Given the description of an element on the screen output the (x, y) to click on. 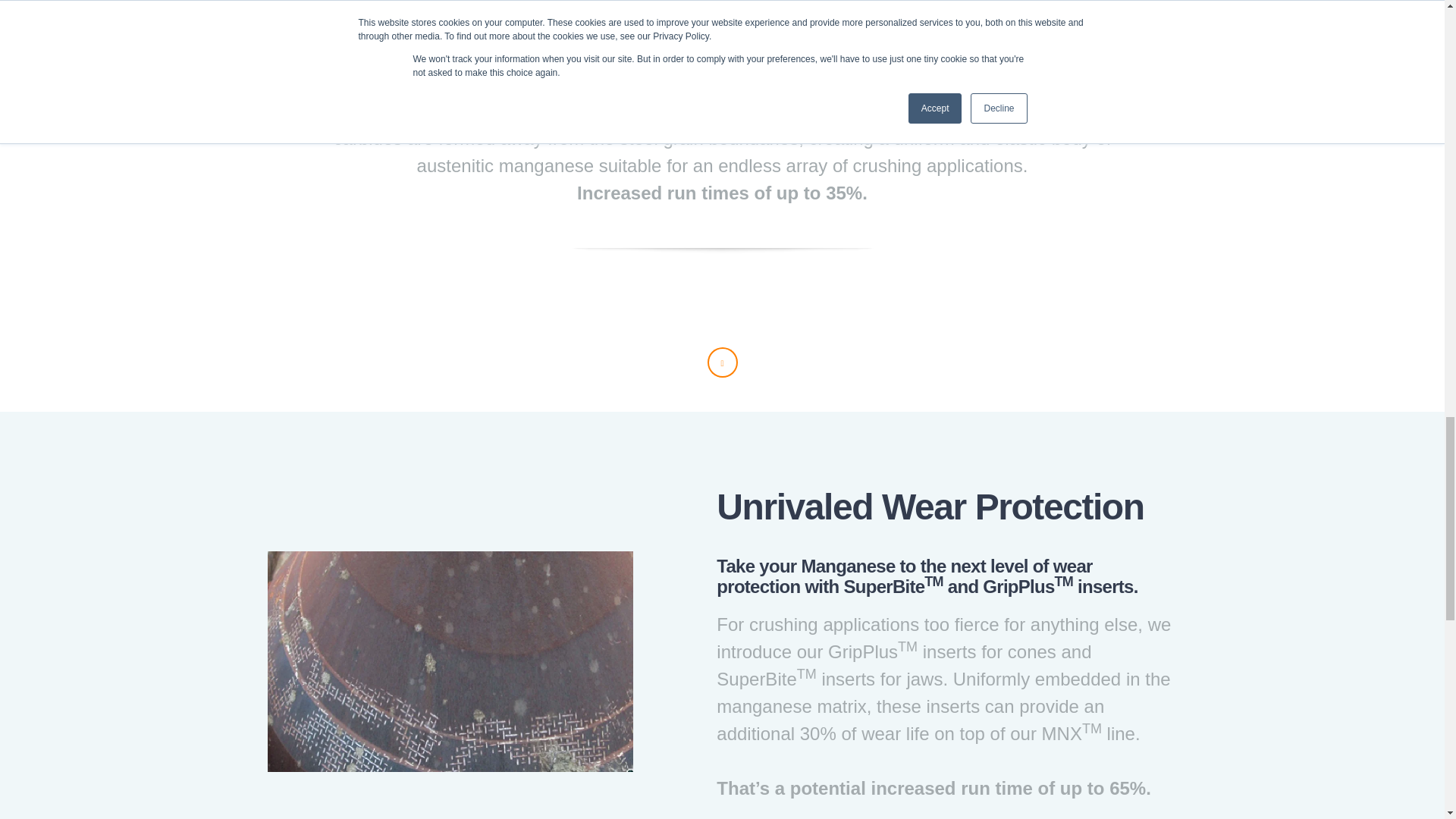
superbite (448, 661)
